Given the description of an element on the screen output the (x, y) to click on. 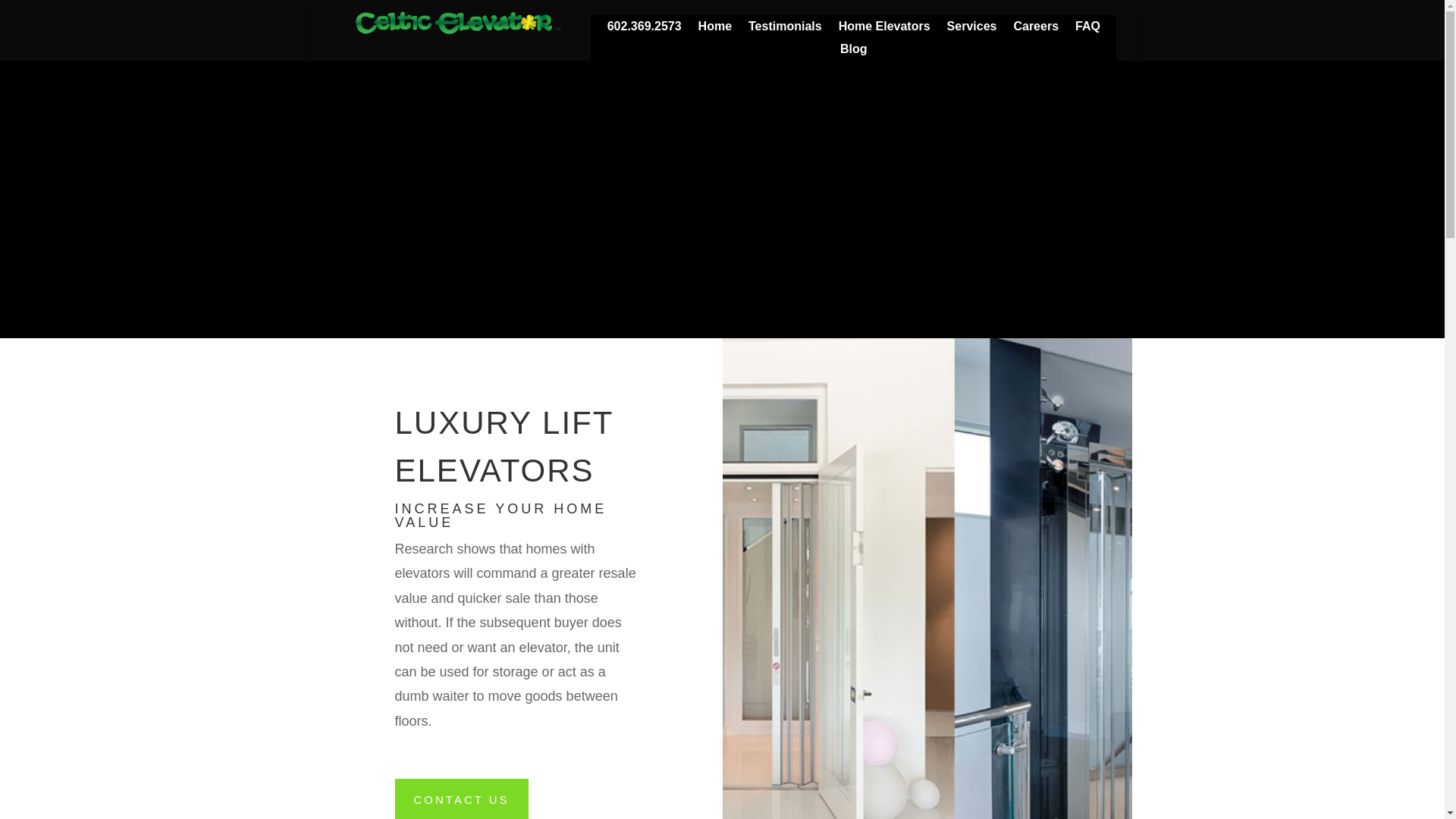
Blog (853, 52)
FAQ (1087, 29)
Home Elevators (884, 29)
602.369.2573 (644, 29)
Testimonials (785, 29)
CONTACT US (460, 798)
Home (715, 29)
Careers (1035, 29)
Services (972, 29)
